Given the description of an element on the screen output the (x, y) to click on. 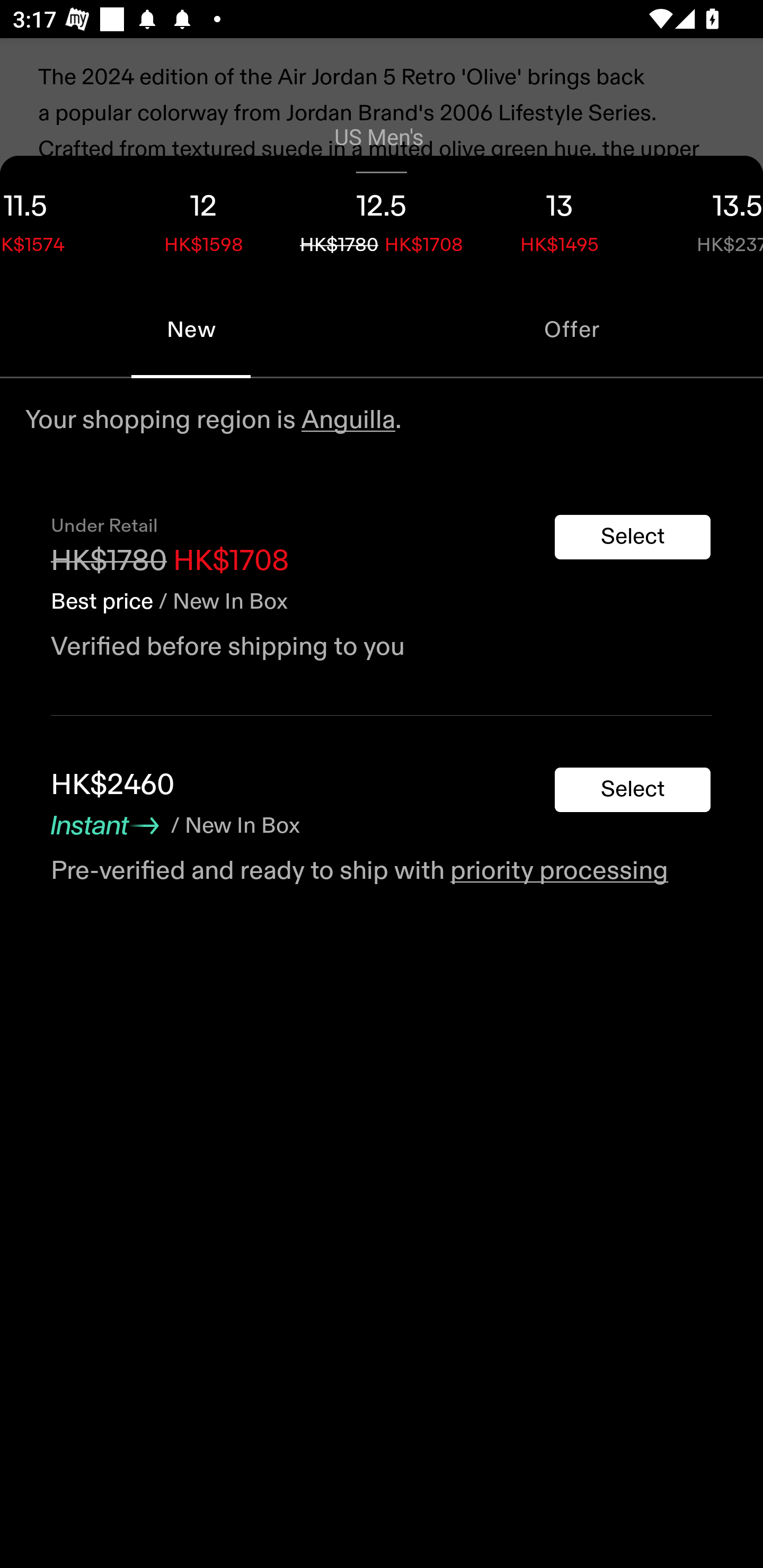
11.5 HK$1574 (57, 218)
12 HK$1598 (203, 218)
12.5 HK$1780 HK$1708 (381, 218)
13 HK$1495 (559, 218)
13.5 HK$2373 (705, 218)
Offer (572, 329)
Select (632, 536)
Sell (152, 583)
HK$2460 (112, 785)
Select (632, 789)
